Given the description of an element on the screen output the (x, y) to click on. 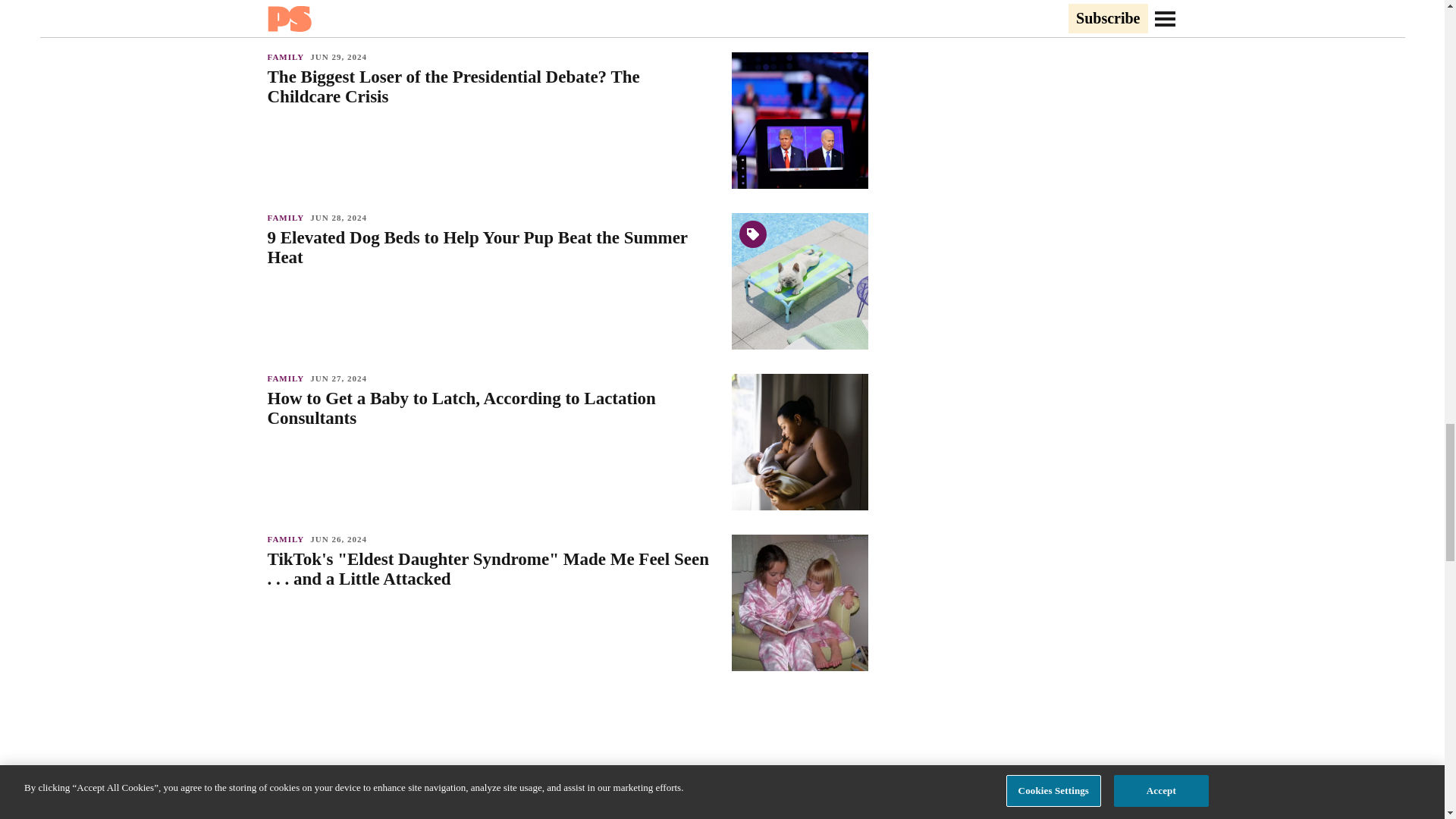
FAMILY (288, 538)
9 Elevated Dog Beds to Help Your Pup Beat the Summer Heat (491, 247)
FAMILY (288, 378)
FAMILY (288, 216)
FAMILY (288, 56)
